Given the description of an element on the screen output the (x, y) to click on. 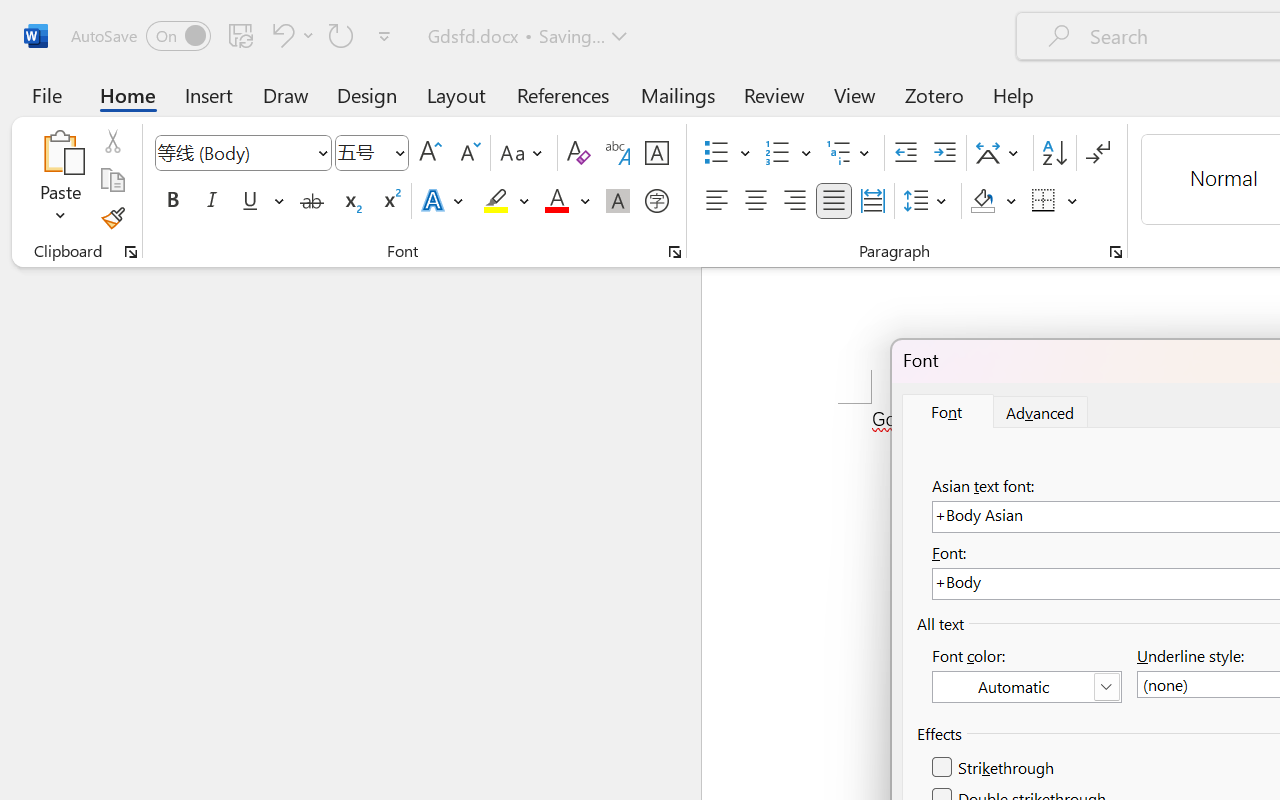
Repeat Style (341, 35)
Asian Layout (1000, 153)
